Given the description of an element on the screen output the (x, y) to click on. 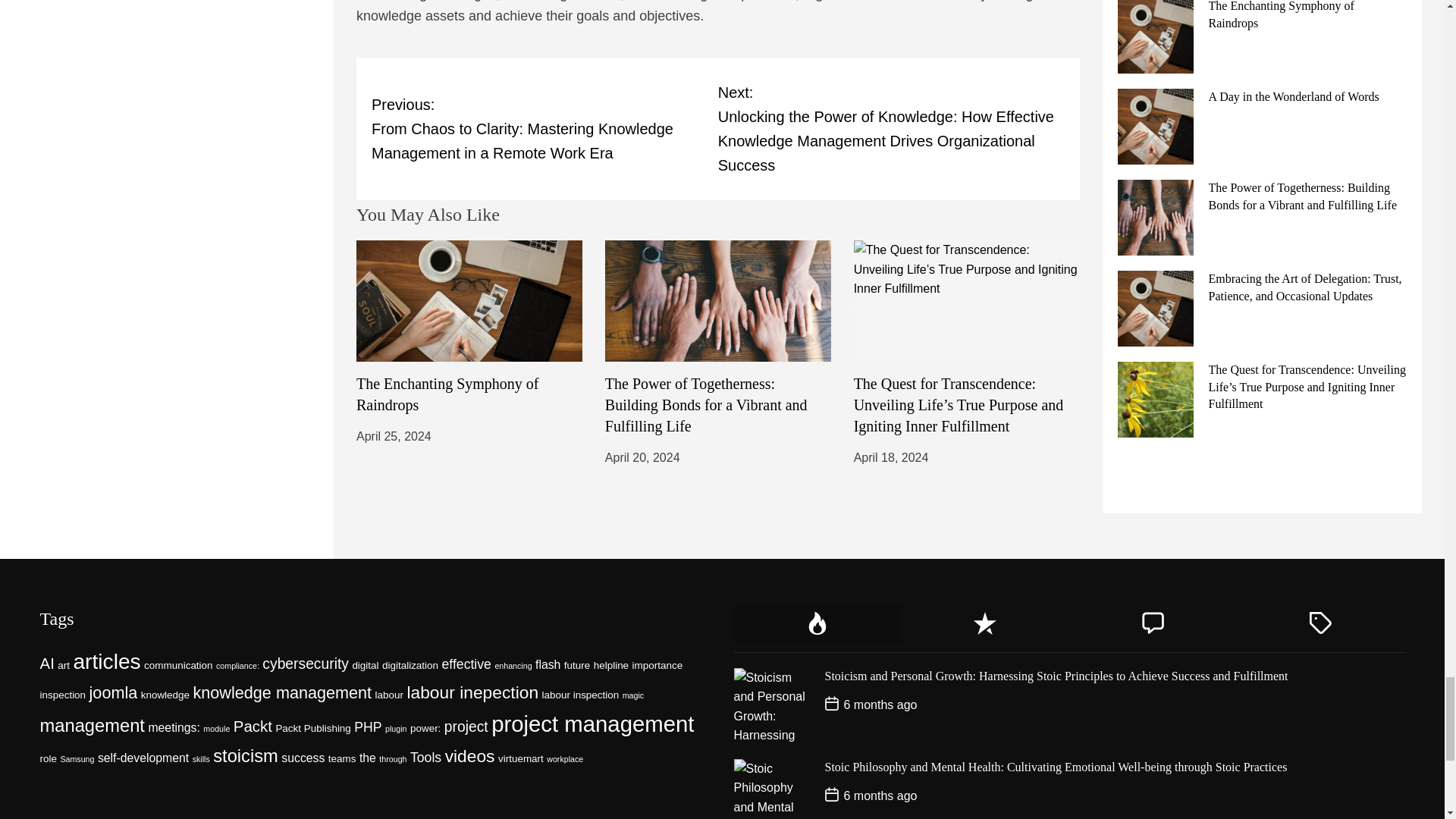
The Enchanting Symphony of Raindrops (447, 394)
